Given the description of an element on the screen output the (x, y) to click on. 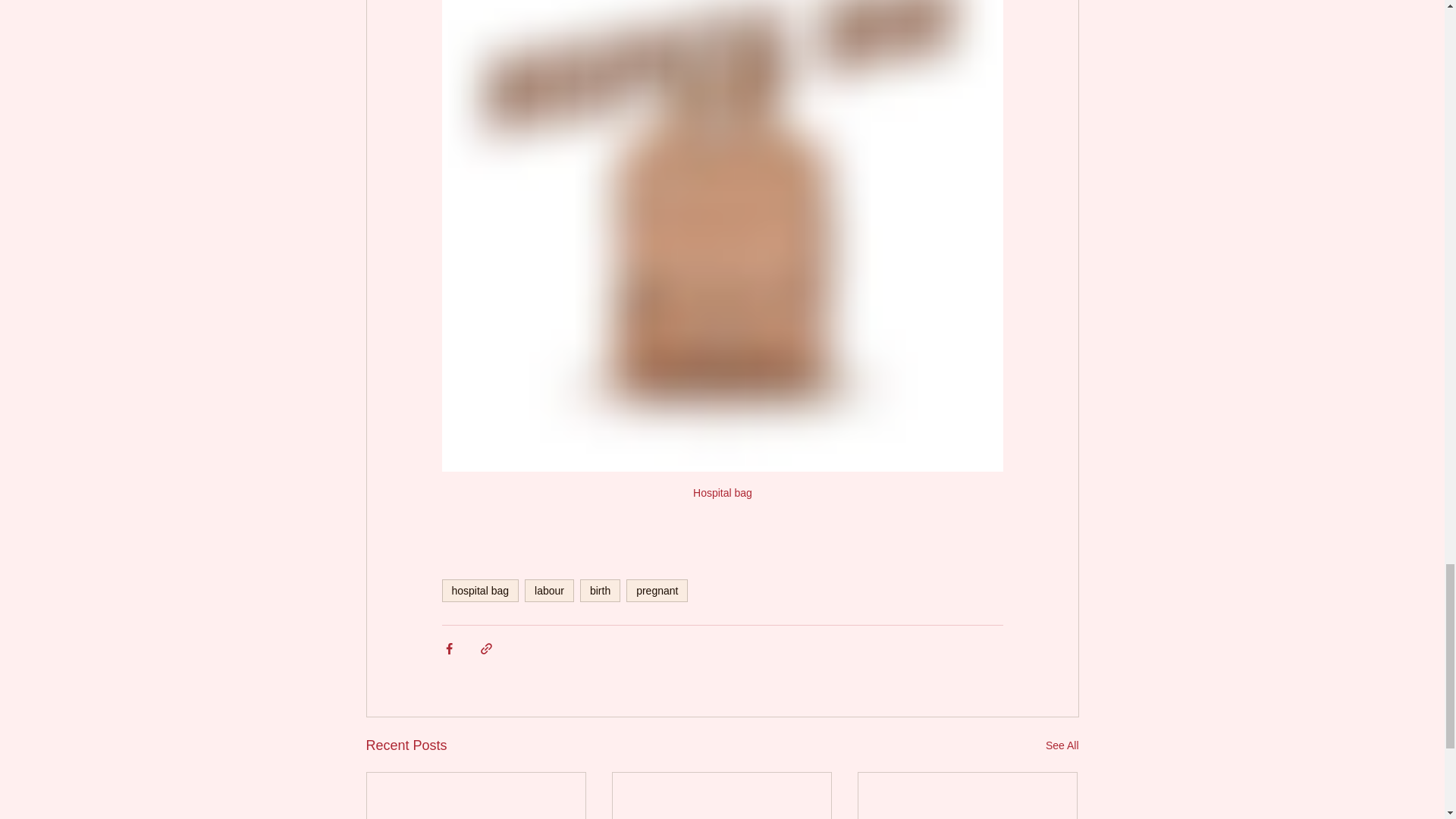
See All (1061, 745)
birth (599, 590)
pregnant (656, 590)
labour (548, 590)
hospital bag (479, 590)
